Given the description of an element on the screen output the (x, y) to click on. 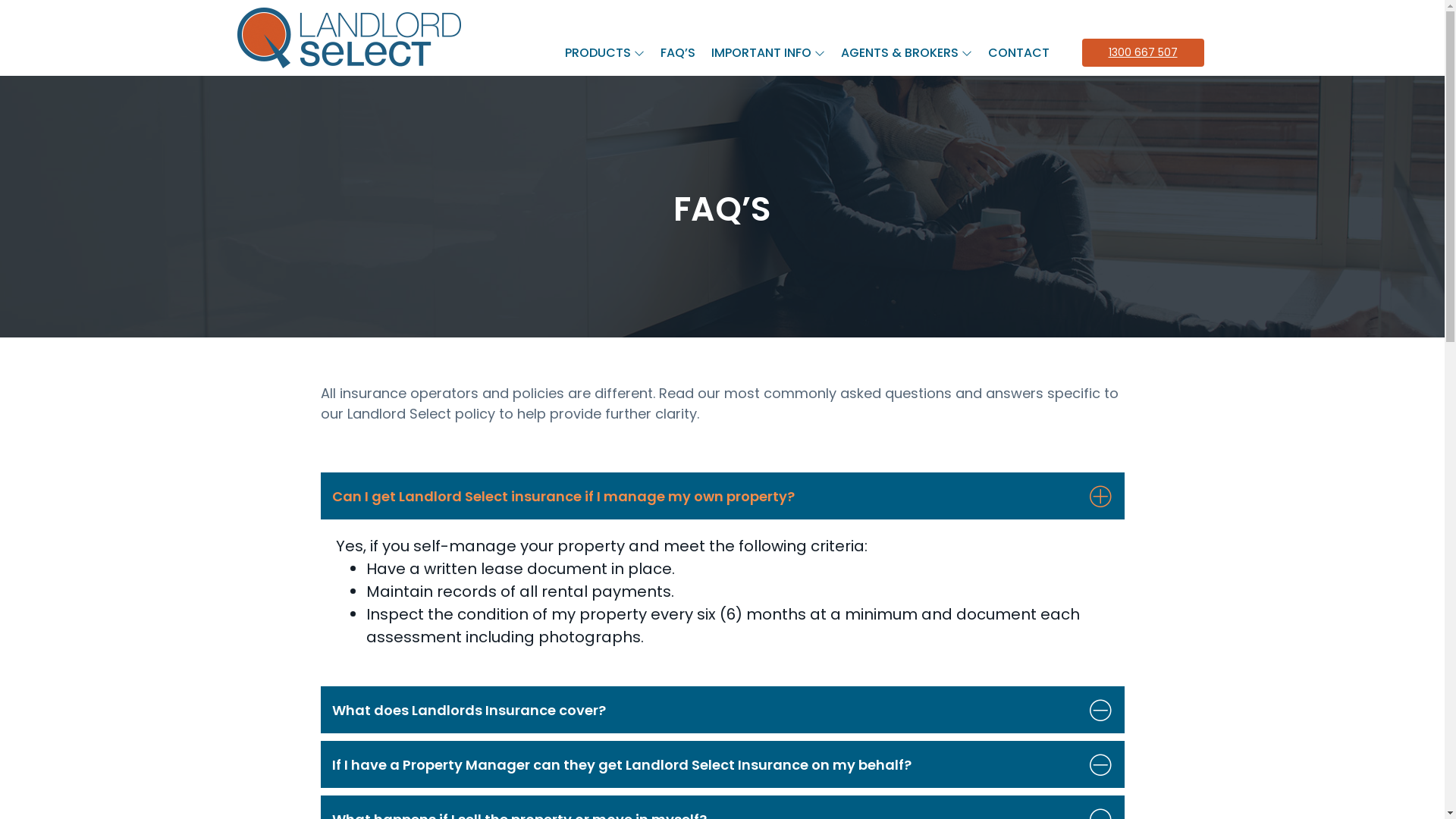
CONTACT Element type: text (1017, 51)
PRODUCTS Element type: text (603, 51)
IMPORTANT INFO Element type: text (768, 51)
1300 667 507 Element type: text (1142, 51)
AGENTS & BROKERS Element type: text (905, 51)
Skip to primary navigation Element type: text (0, 0)
